Given the description of an element on the screen output the (x, y) to click on. 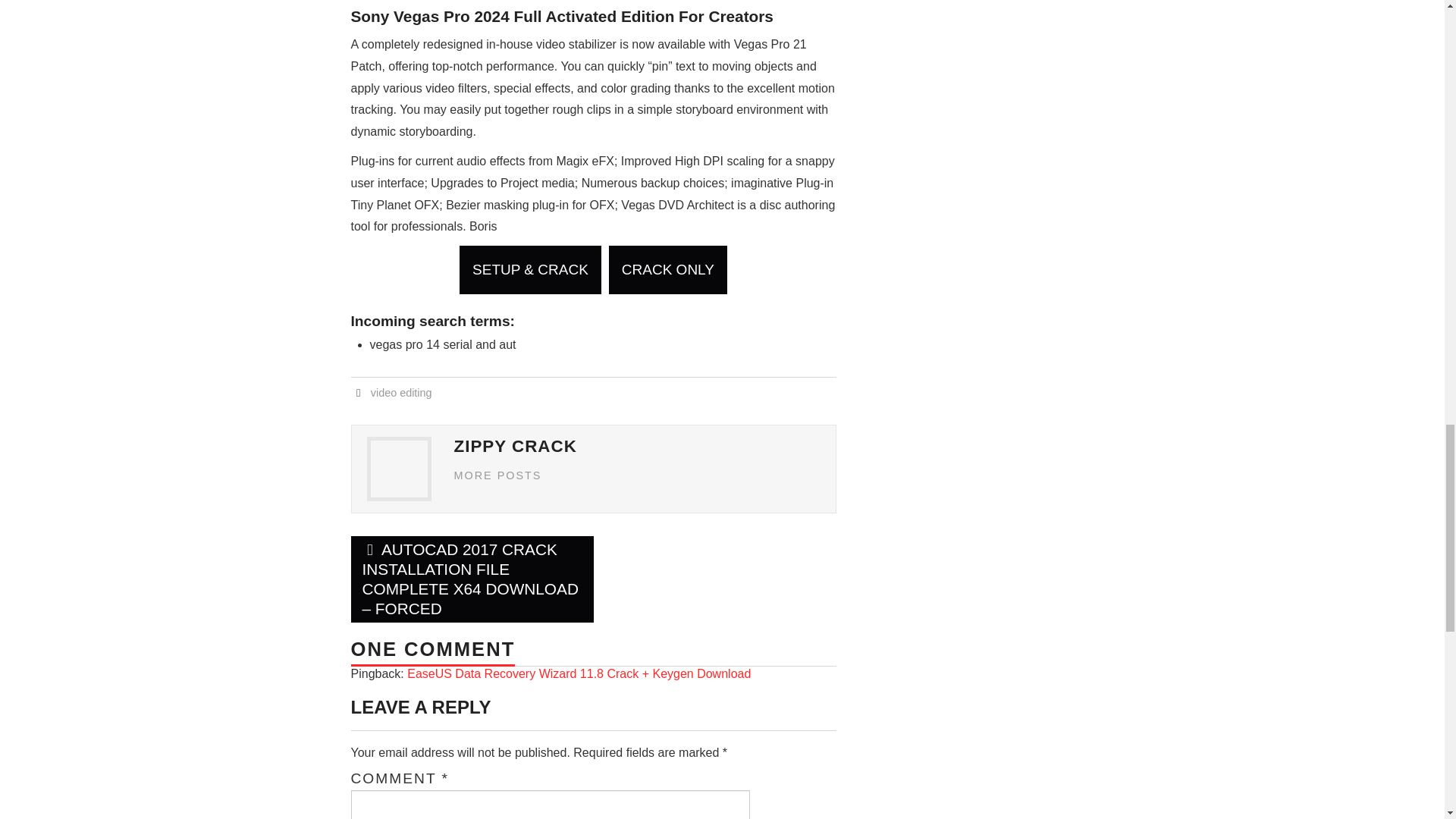
video editing (401, 392)
CRACK ONLY (667, 269)
MORE POSTS (496, 475)
